Given the description of an element on the screen output the (x, y) to click on. 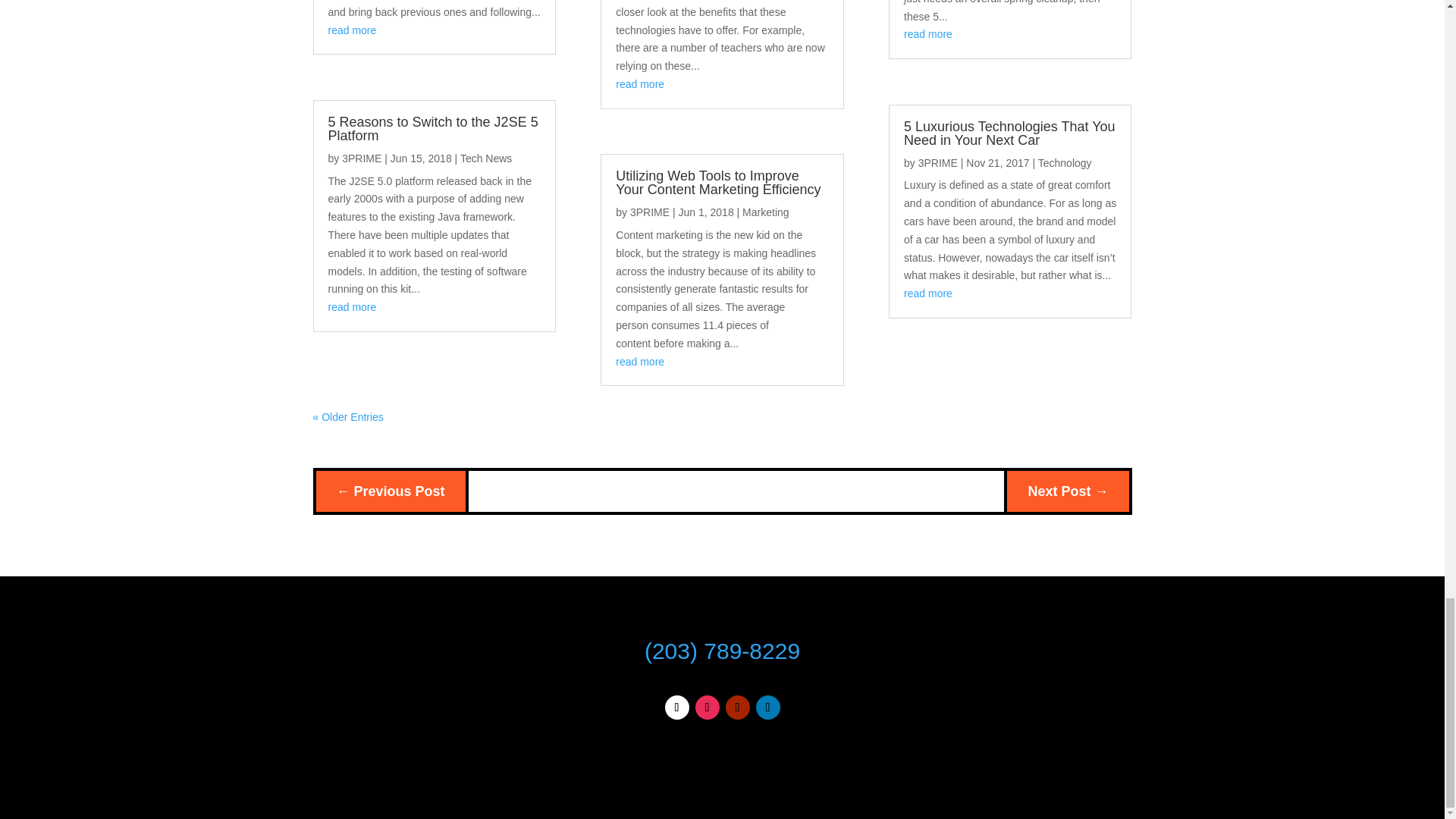
Marketing (765, 212)
read more (639, 83)
Posts by 3PRIME (649, 212)
3PRIME (361, 158)
Posts by 3PRIME (361, 158)
read more (639, 361)
3PRIME (649, 212)
read more (351, 306)
5 Reasons to Switch to the J2SE 5 Platform (432, 128)
Follow on Instagram (706, 707)
